Given the description of an element on the screen output the (x, y) to click on. 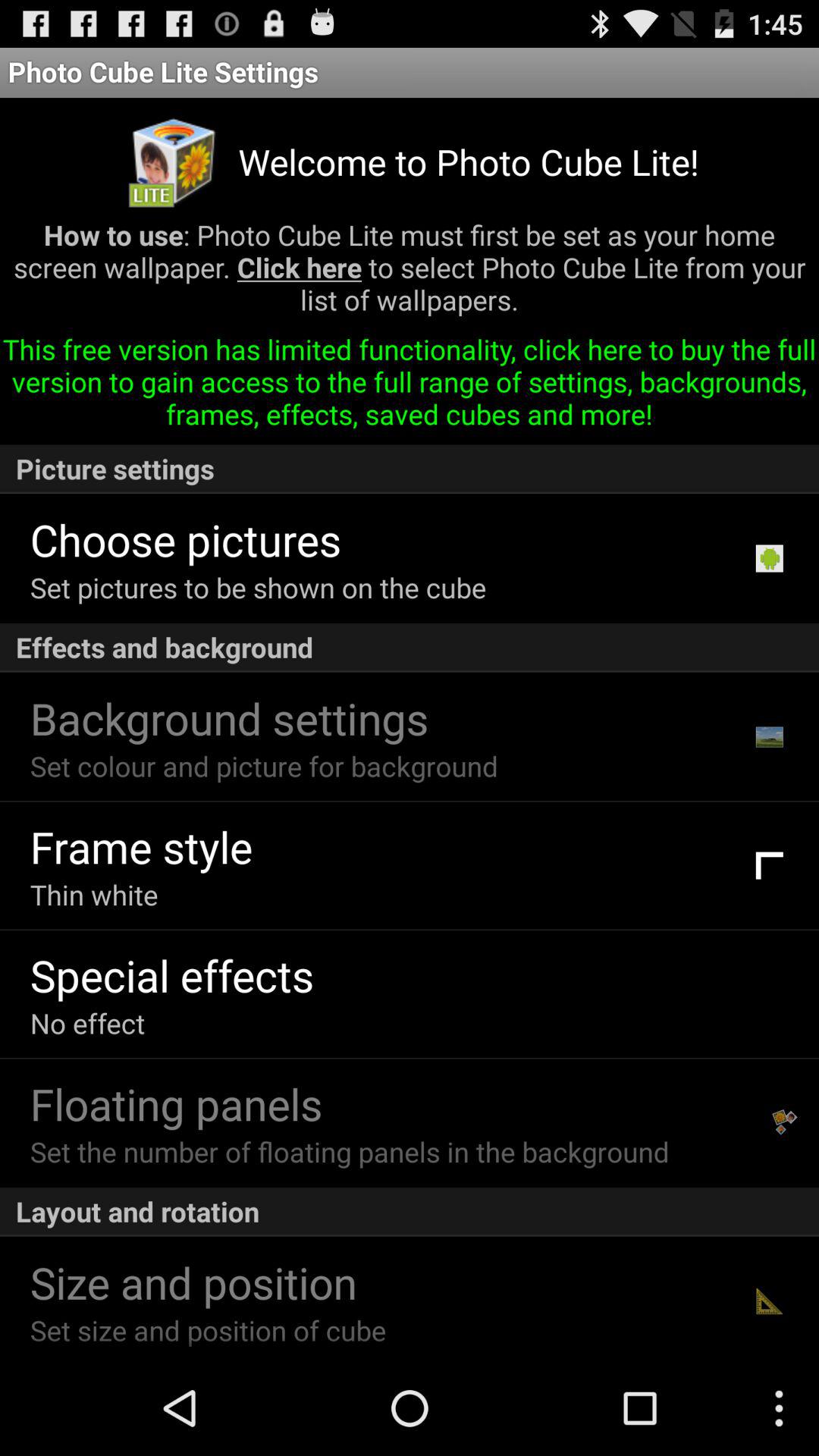
select the thin white app (94, 894)
